Given the description of an element on the screen output the (x, y) to click on. 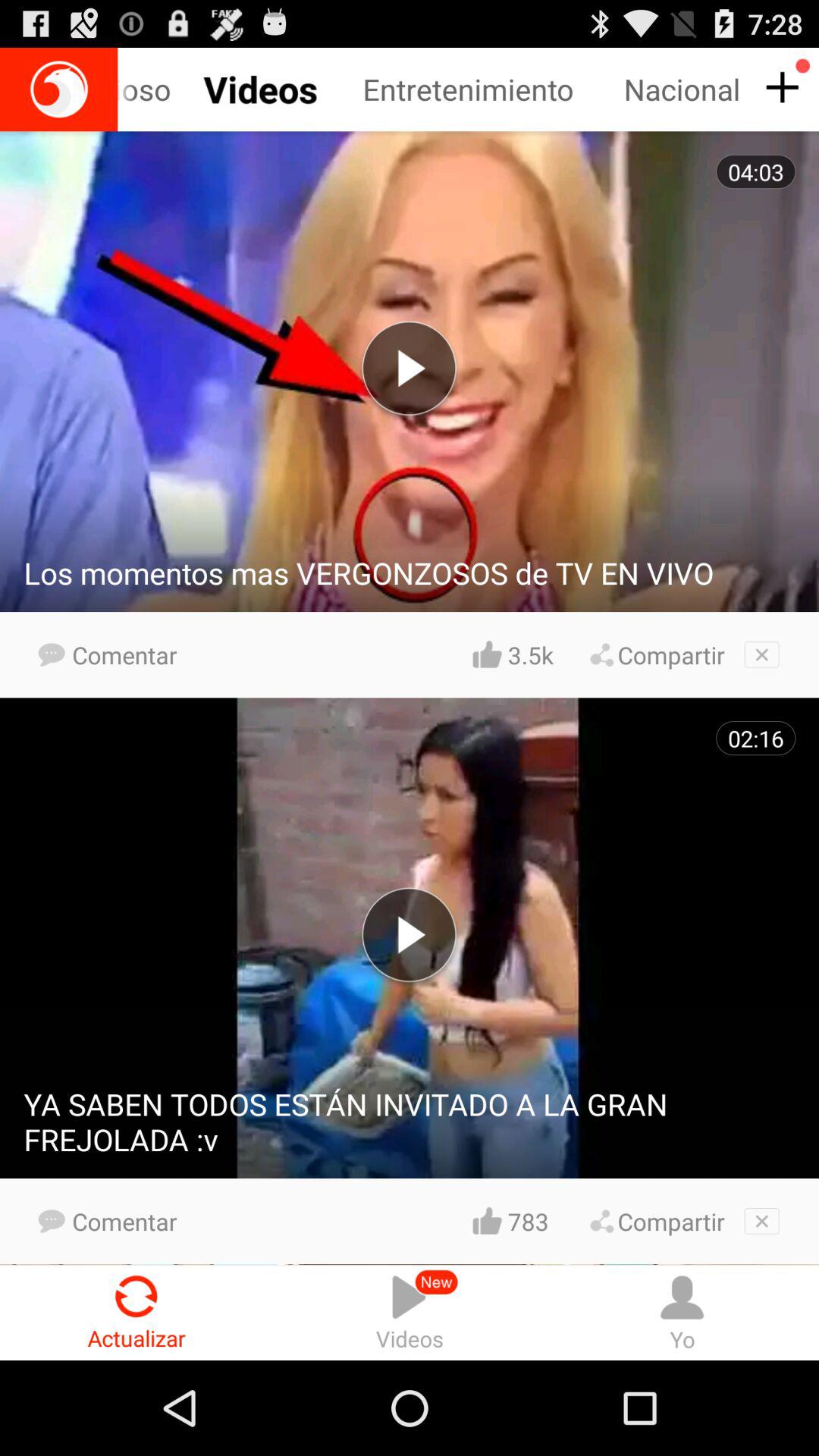
turn on nacional (683, 89)
